Given the description of an element on the screen output the (x, y) to click on. 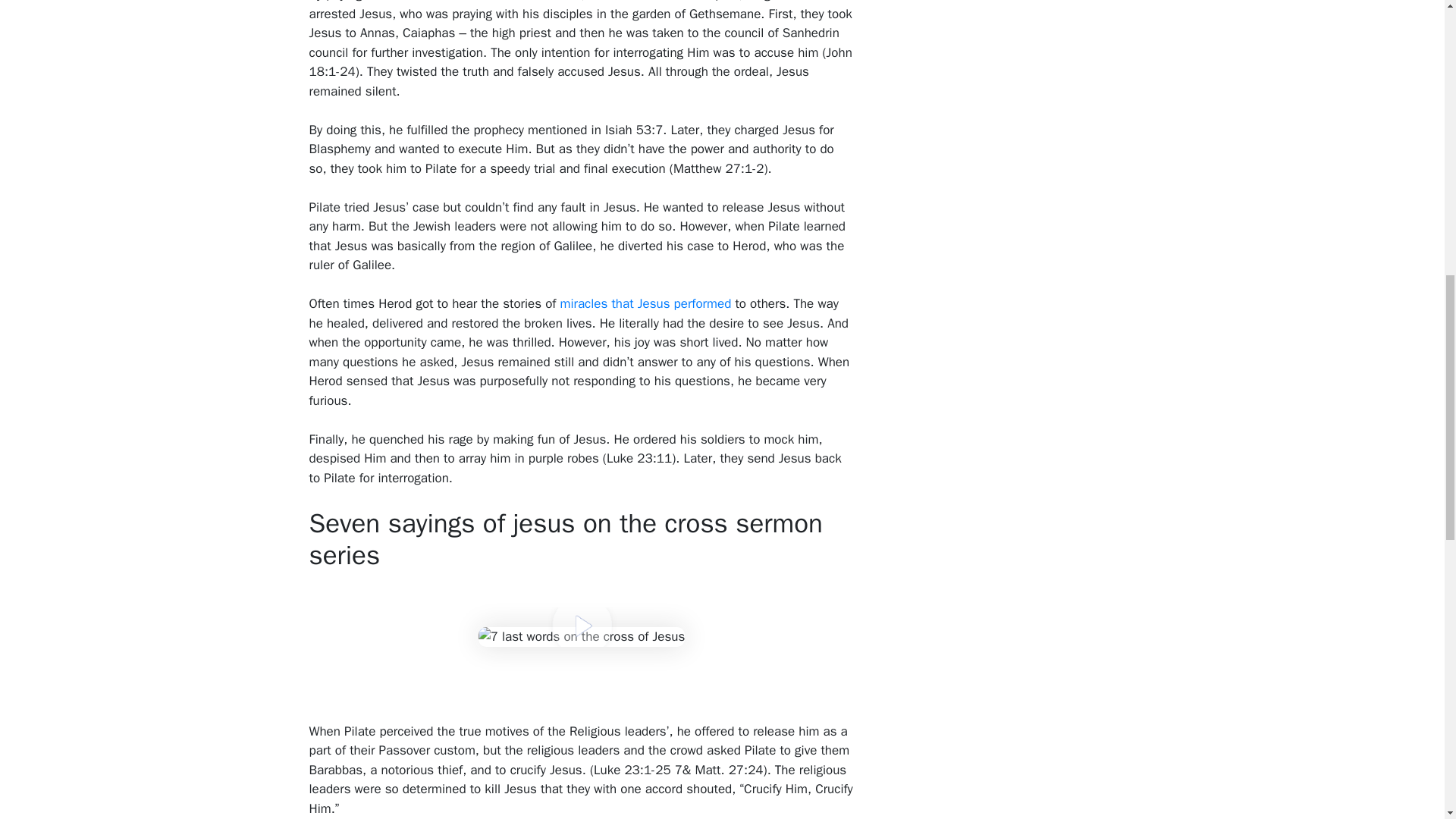
miracles that Jesus performed (646, 303)
